Given the description of an element on the screen output the (x, y) to click on. 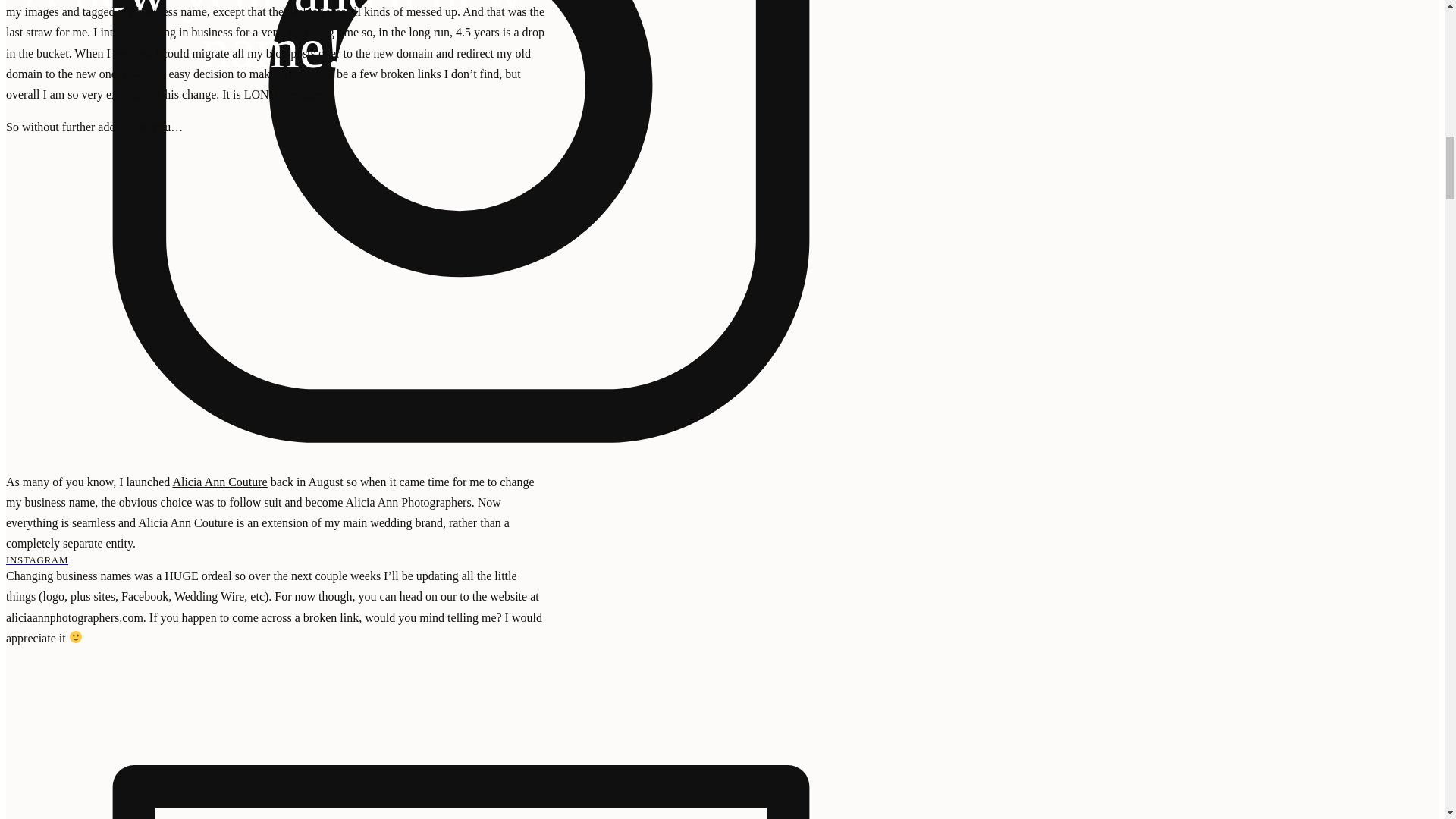
INSTAGRAM (460, 560)
